Given the description of an element on the screen output the (x, y) to click on. 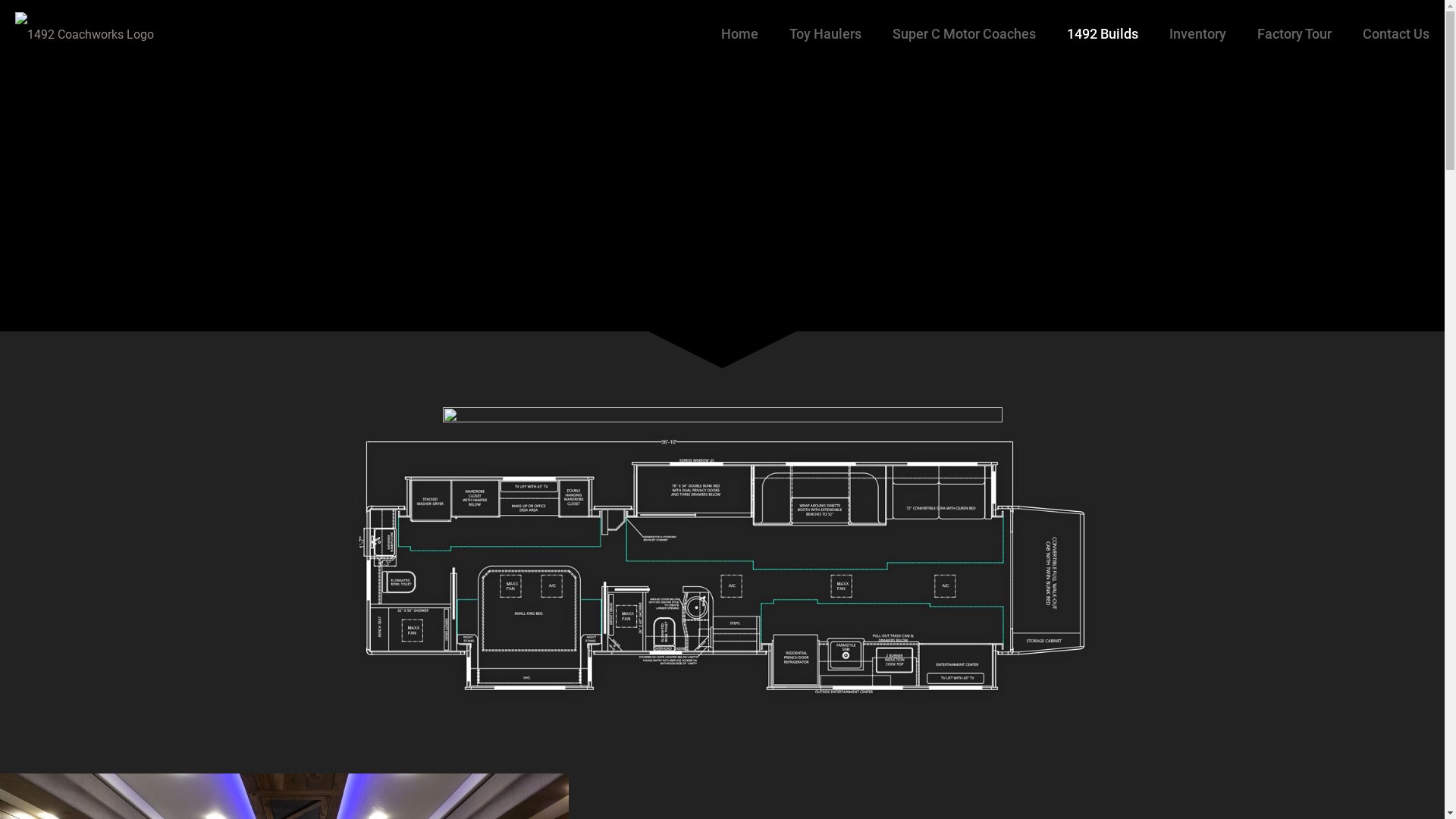
Factory Tour Element type: text (1294, 34)
Inventory Element type: text (1198, 34)
Home Element type: text (740, 34)
Super C Motor Coaches Element type: text (964, 34)
Toy Haulers Element type: text (825, 34)
1492 Coachworks Element type: hover (84, 34)
Contact Us Element type: text (1395, 34)
1492 Builds Element type: text (1102, 34)
